Given the description of an element on the screen output the (x, y) to click on. 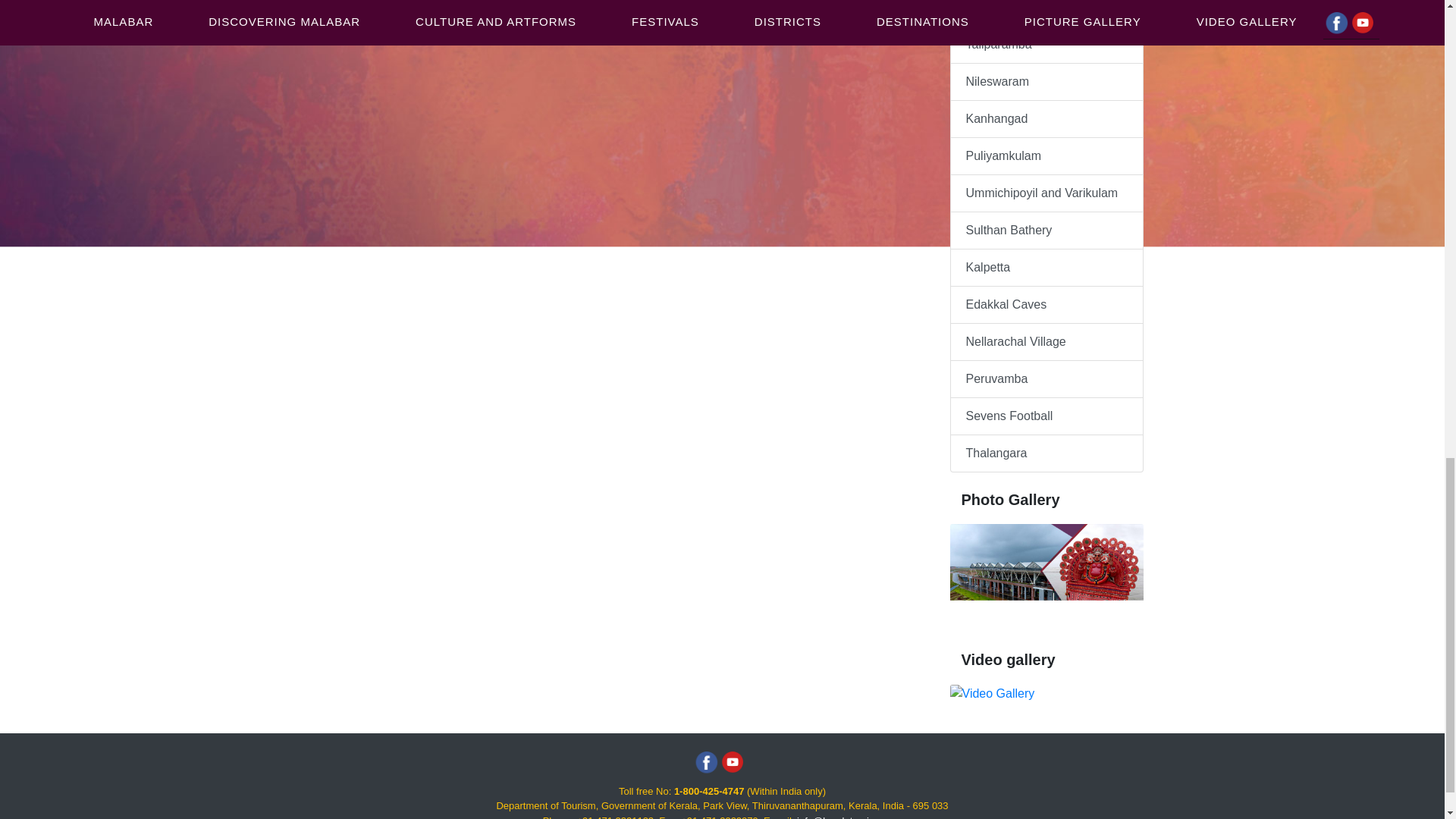
Kerala tourism facebook (706, 762)
Kerala tourism youtube (731, 762)
Video Gallery (991, 693)
Picture Gallery (1045, 578)
